Given the description of an element on the screen output the (x, y) to click on. 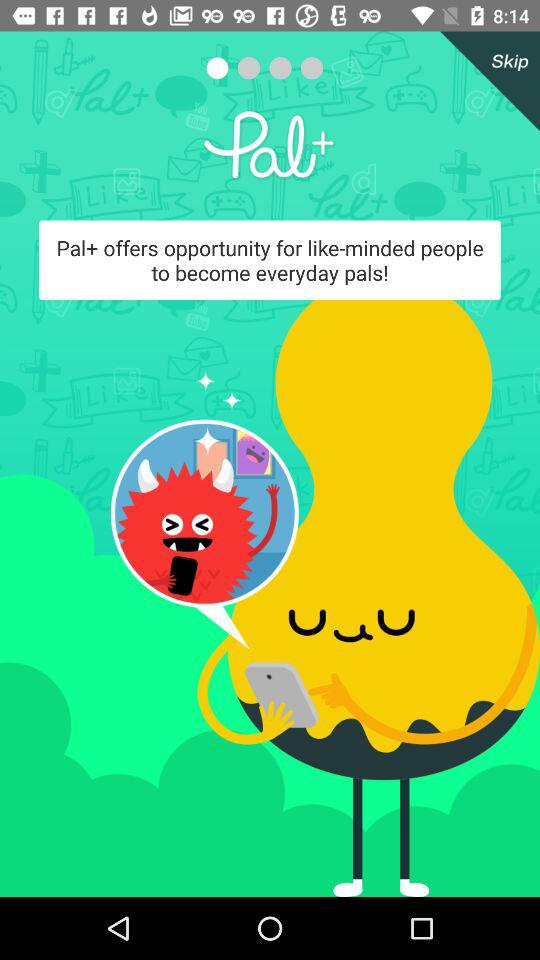
skip through the advertisement (486, 81)
